Given the description of an element on the screen output the (x, y) to click on. 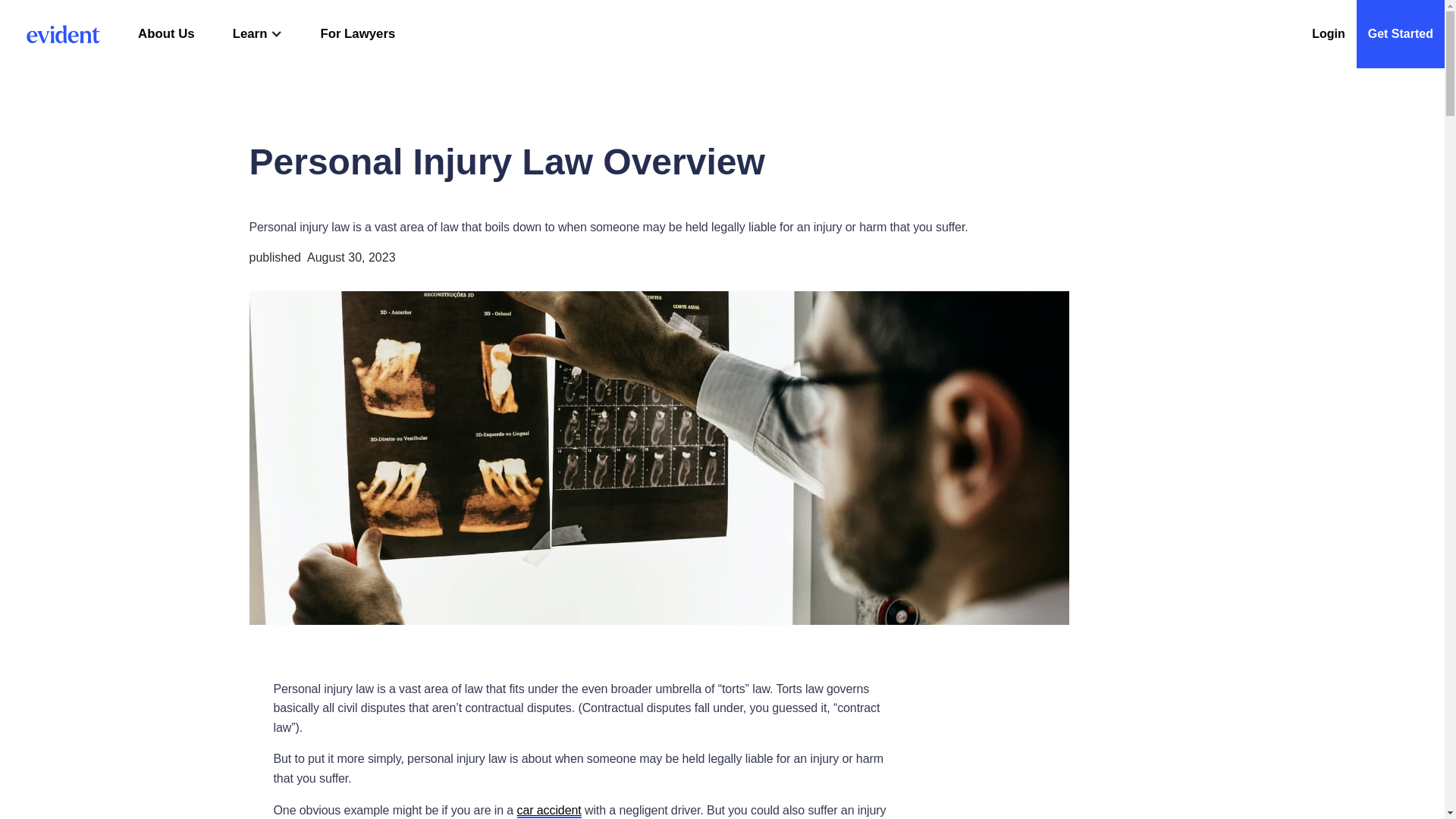
Login (1328, 33)
Learn (249, 33)
For Lawyers (357, 33)
car accident (548, 810)
About Us (166, 33)
